Given the description of an element on the screen output the (x, y) to click on. 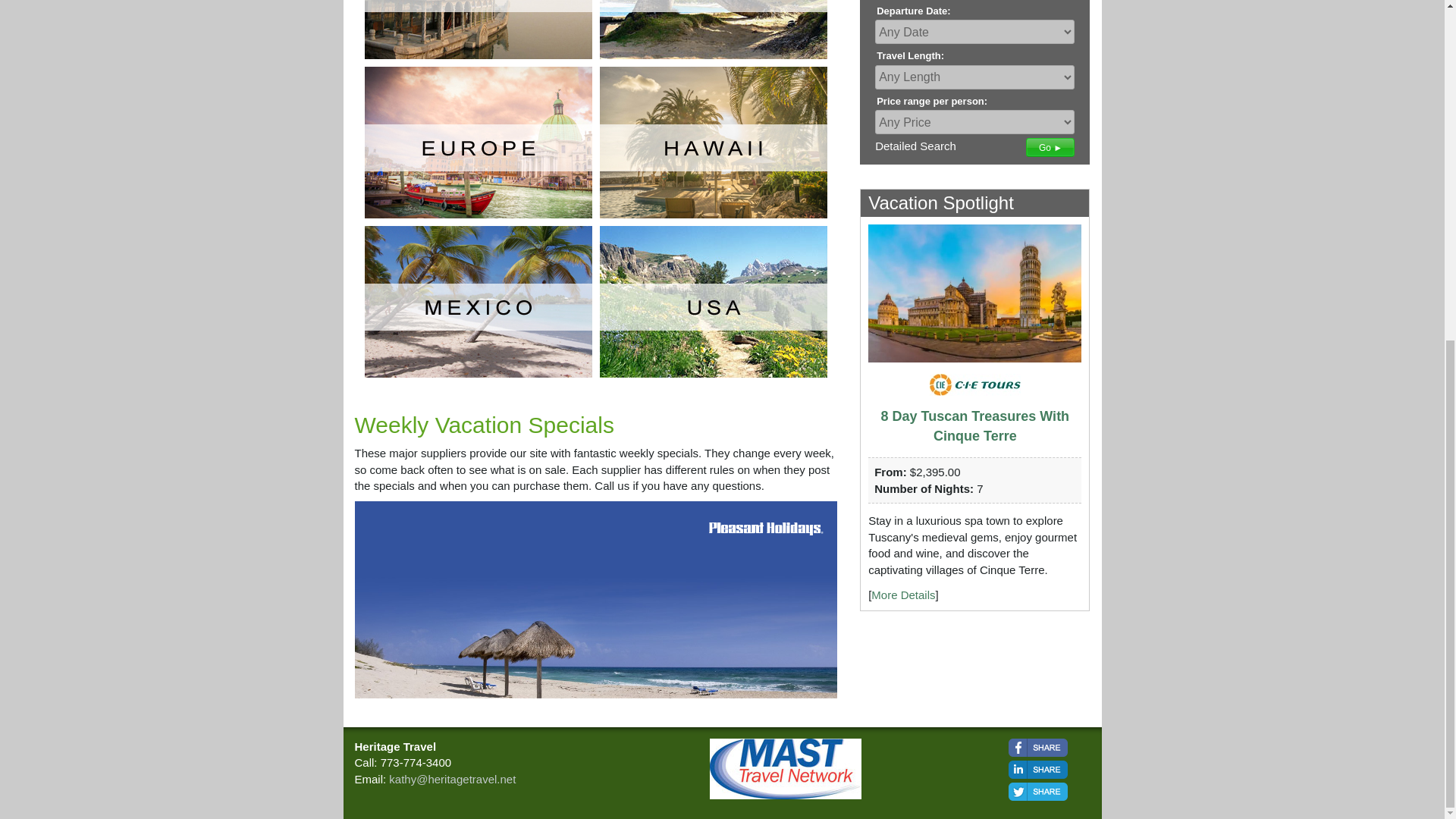
8 Day Tuscan Treasures With Cinque Terre (975, 425)
More Details (902, 594)
Share this page to Twitter (1038, 791)
Share this page to LinkedIn (1038, 769)
Share this page to Facebook (1038, 747)
Detailed Search (915, 145)
